Given the description of an element on the screen output the (x, y) to click on. 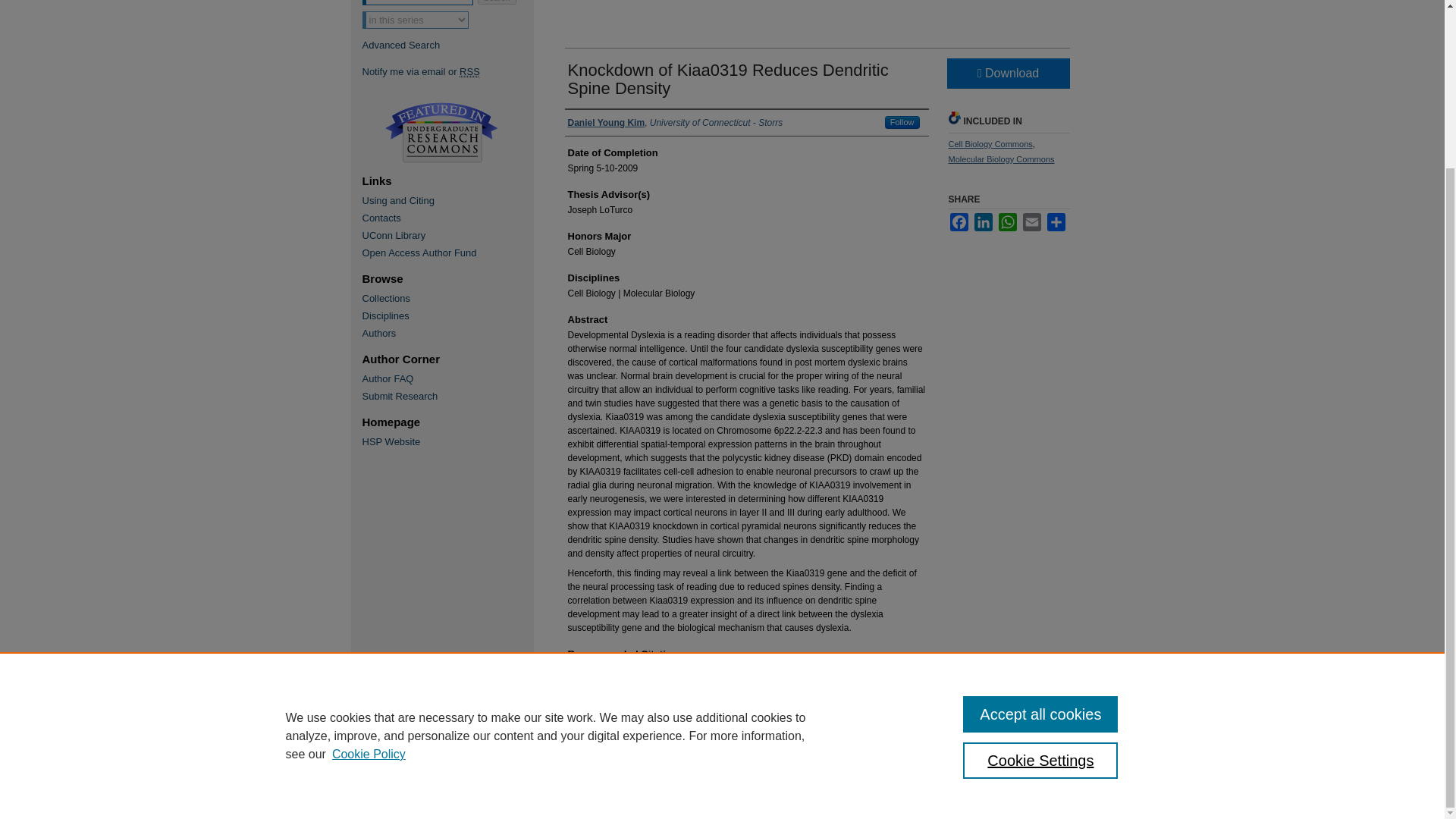
Search (496, 2)
Molecular Biology Commons (1000, 158)
Follow (902, 122)
Advanced Search (401, 44)
Download (1007, 73)
Molecular Biology Commons (1000, 158)
Share (1055, 221)
Email or RSS Notifications (447, 71)
Undergraduate Research Commons (440, 132)
Email (1031, 221)
Follow Daniel Young Kim (902, 122)
Really Simple Syndication (470, 71)
Search (496, 2)
Notify me via email or RSS (447, 71)
